Given the description of an element on the screen output the (x, y) to click on. 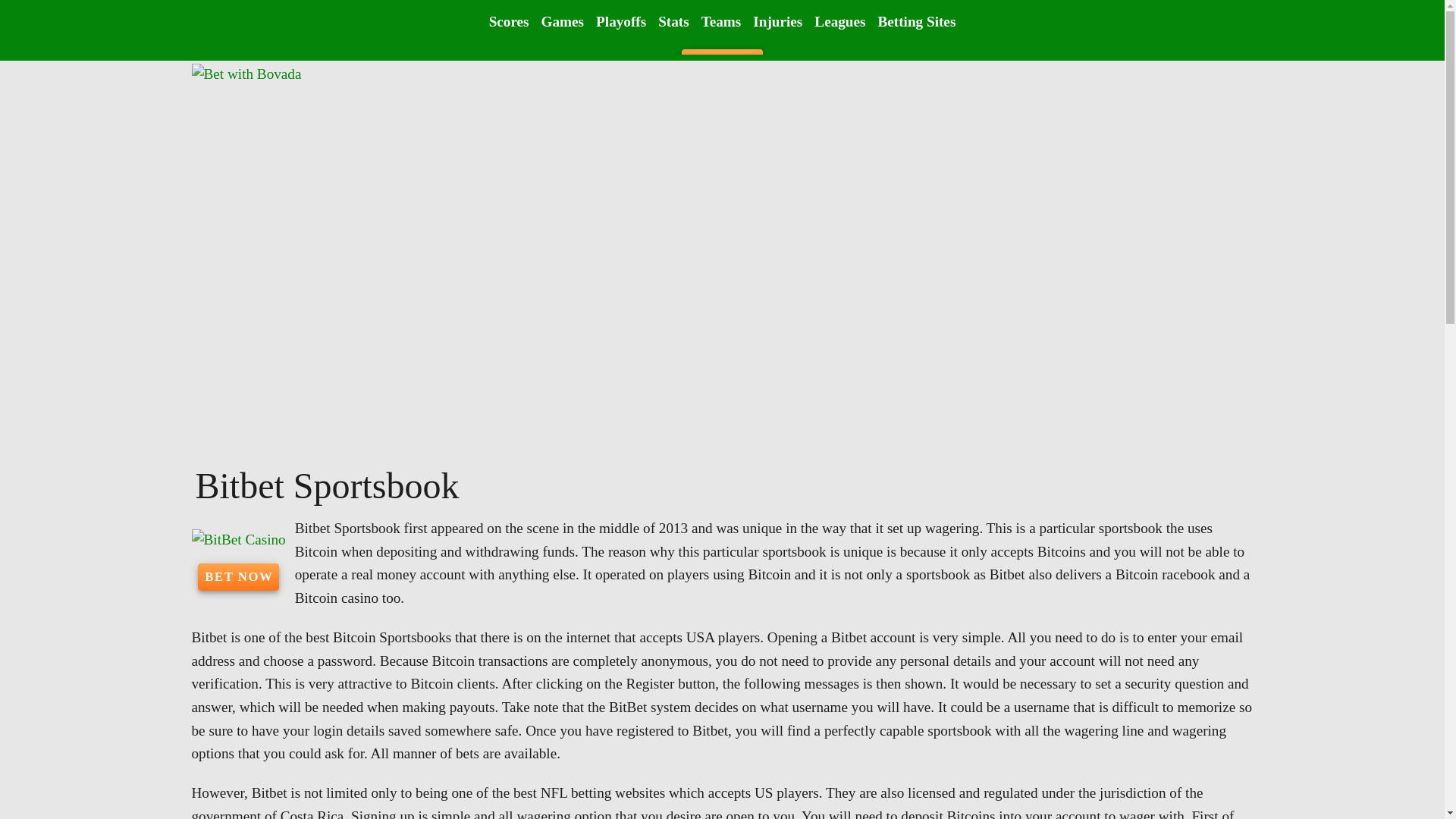
Betting Sites (915, 22)
Playoffs (620, 22)
BET NOW (238, 576)
Scores (509, 22)
Injuries (777, 22)
Teams (721, 22)
Leagues (839, 22)
Stats (673, 22)
Games (563, 22)
